Given the description of an element on the screen output the (x, y) to click on. 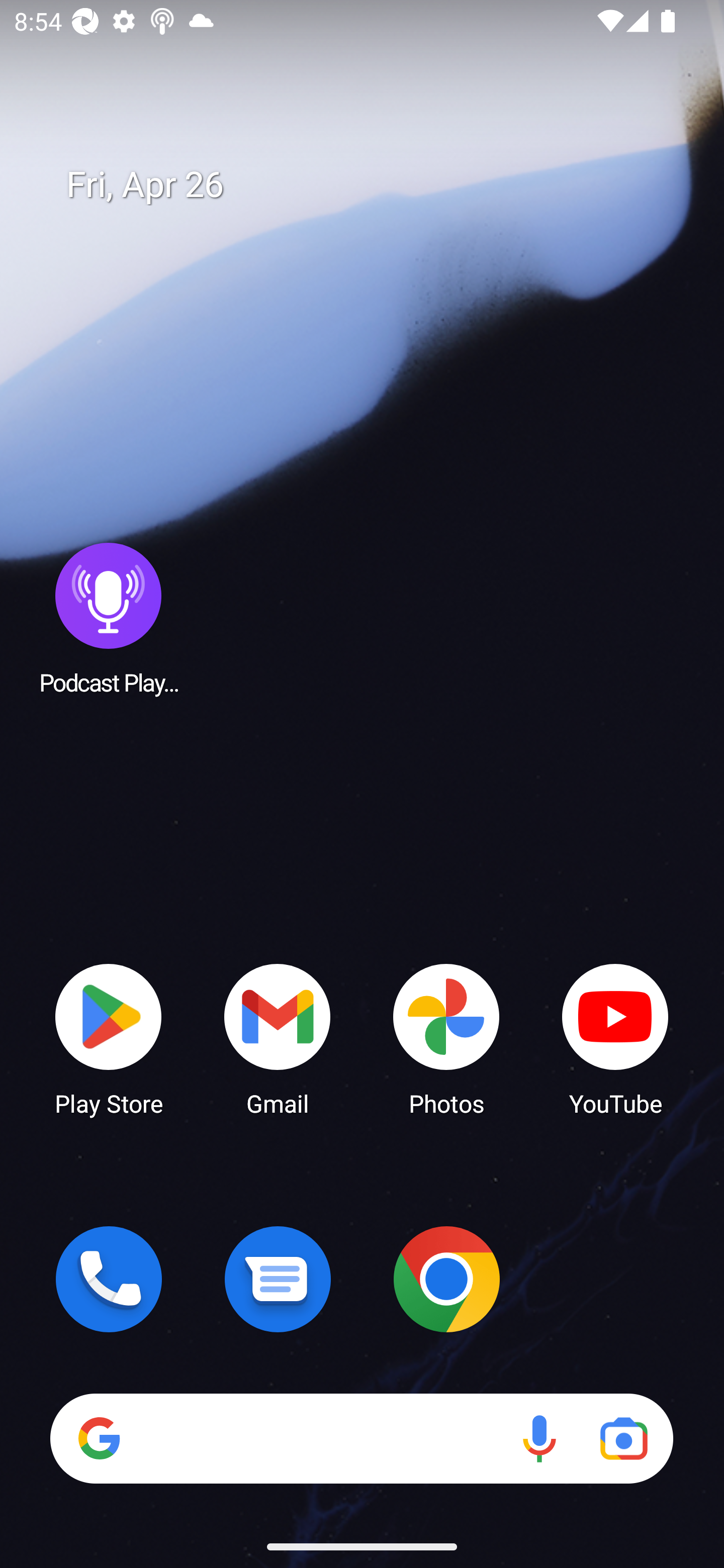
Fri, Apr 26 (375, 184)
Podcast Player (108, 617)
Play Store (108, 1038)
Gmail (277, 1038)
Photos (445, 1038)
YouTube (615, 1038)
Phone (108, 1279)
Messages (277, 1279)
Chrome (446, 1279)
Search Voice search Google Lens (361, 1438)
Voice search (539, 1438)
Google Lens (623, 1438)
